Given the description of an element on the screen output the (x, y) to click on. 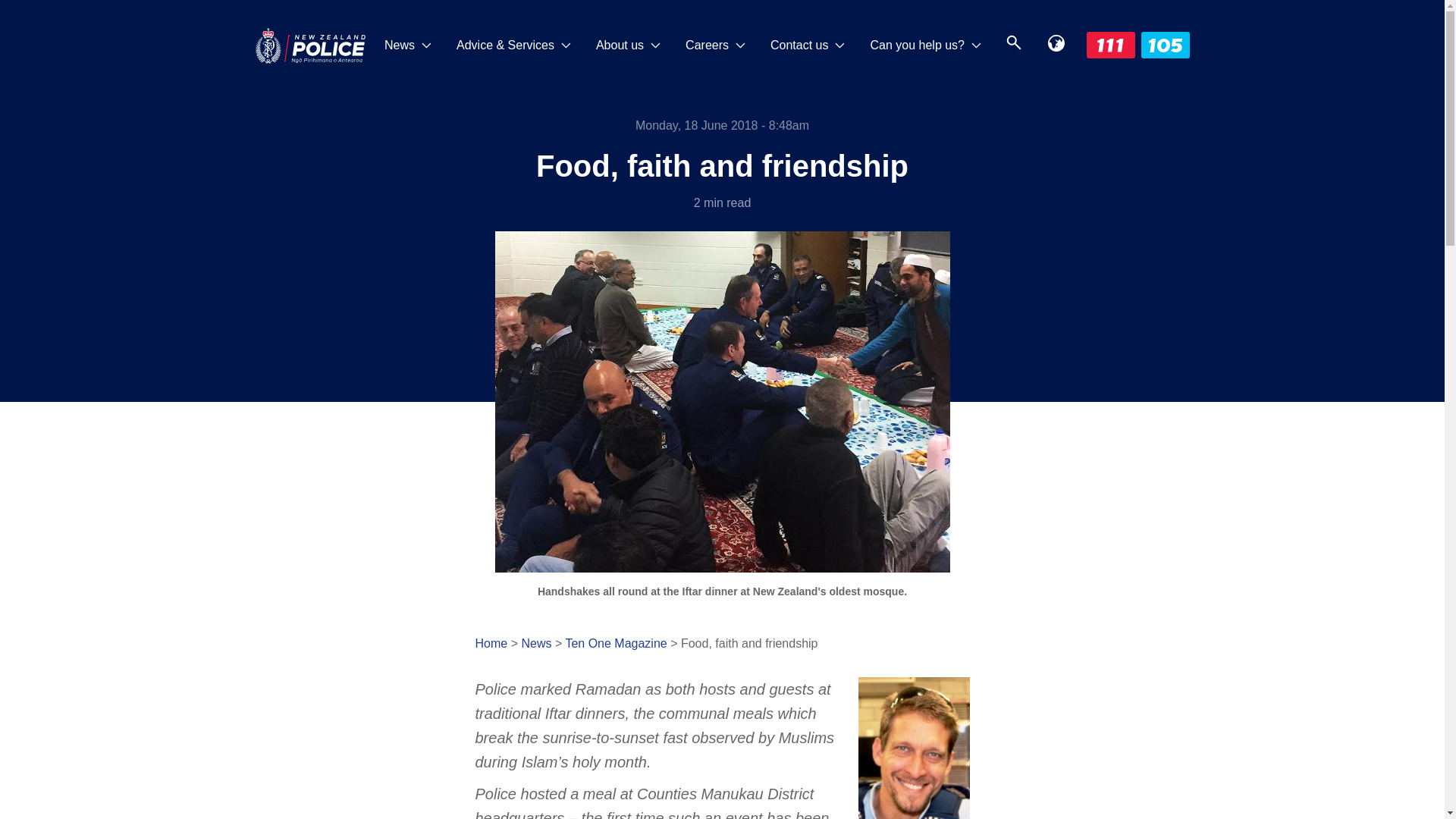
105 icon (1164, 44)
News (408, 45)
111 icon (1110, 44)
